Given the description of an element on the screen output the (x, y) to click on. 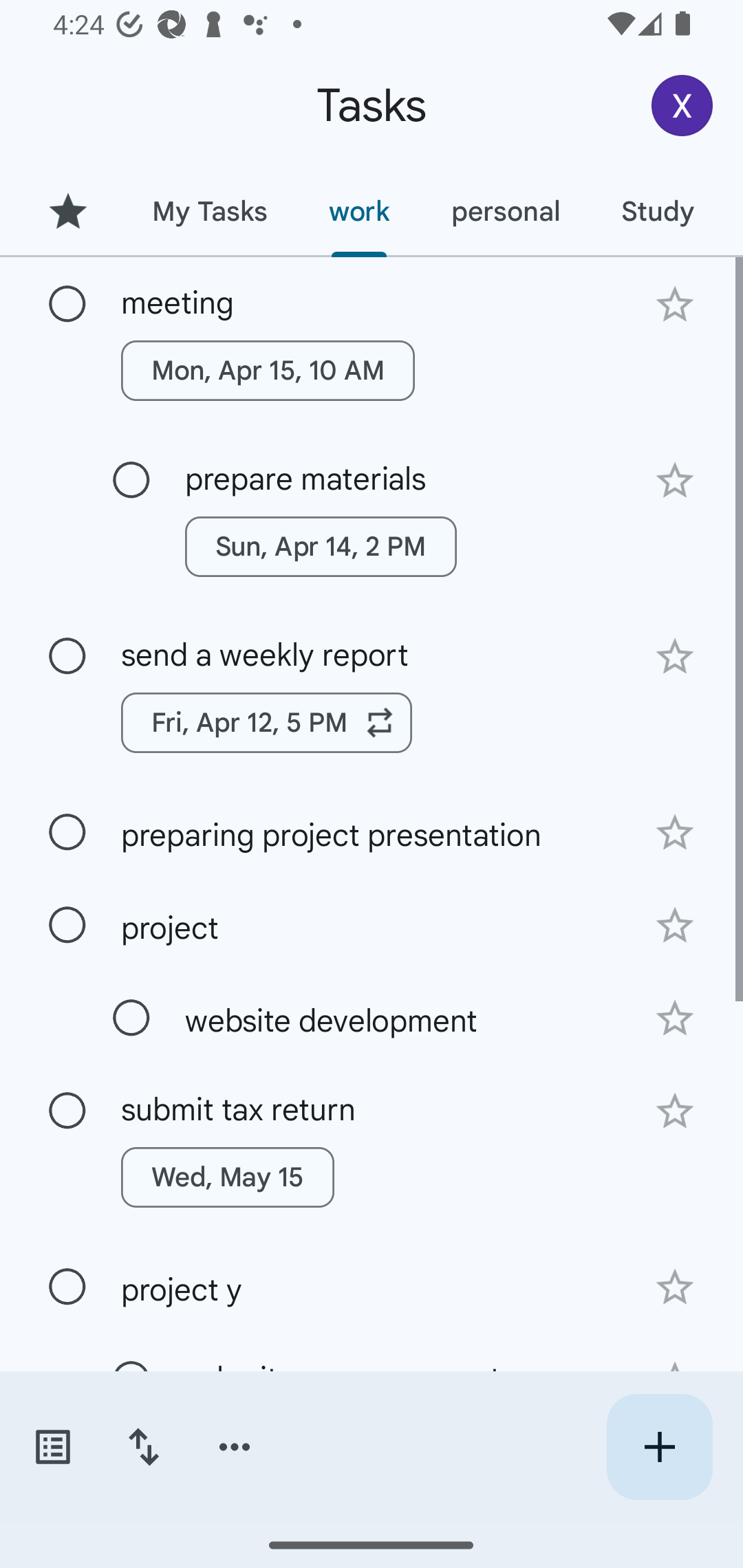
Starred (67, 211)
My Tasks (209, 211)
personal (504, 211)
Study (656, 211)
Add star (674, 303)
Mark as complete (67, 304)
Mon, Apr 15, 10 AM (267, 369)
Add star (674, 480)
Mark as complete (131, 480)
Sun, Apr 14, 2 PM (320, 546)
Add star (674, 656)
Mark as complete (67, 655)
Fri, Apr 12, 5 PM (266, 722)
Add star (674, 832)
Mark as complete (67, 833)
Add star (674, 924)
Mark as complete (67, 925)
Add star (674, 1018)
Mark as complete (131, 1018)
Add star (674, 1111)
Mark as complete (67, 1110)
Wed, May 15 (227, 1177)
Add star (674, 1286)
Mark as complete (67, 1287)
Switch task lists (52, 1447)
Create new task (659, 1446)
Change sort order (143, 1446)
More options (234, 1446)
